Given the description of an element on the screen output the (x, y) to click on. 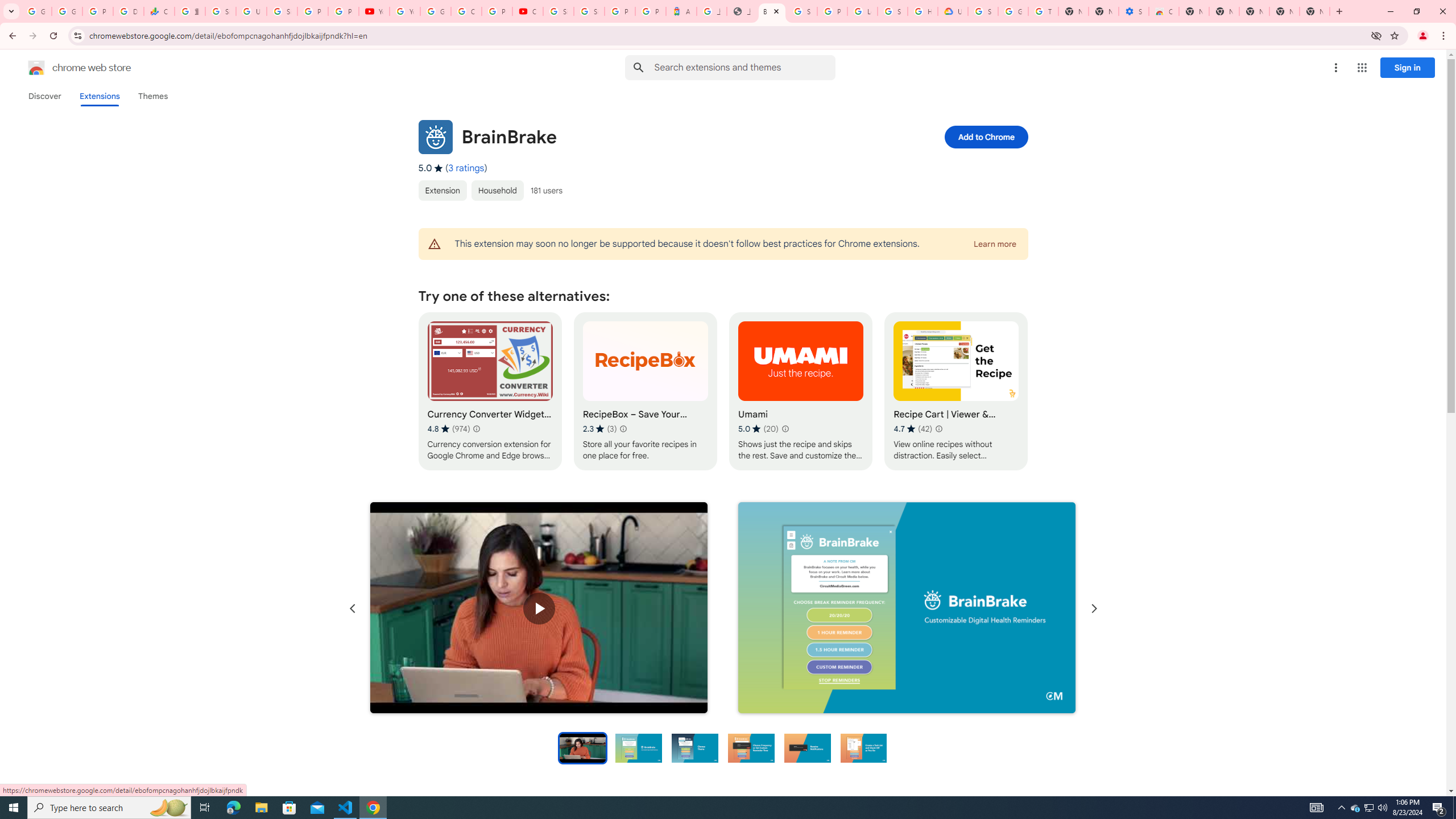
Preview slide 5 (807, 747)
Google Workspace Admin Community (36, 11)
Chrome Web Store - Accessibility extensions (1163, 11)
Preview slide 3 (694, 747)
Turn cookies on or off - Computer - Google Account Help (1042, 11)
Extensions (99, 95)
Item logo image for BrainBrake (434, 136)
Chrome Web Store logo (36, 67)
Next slide (1093, 608)
